Given the description of an element on the screen output the (x, y) to click on. 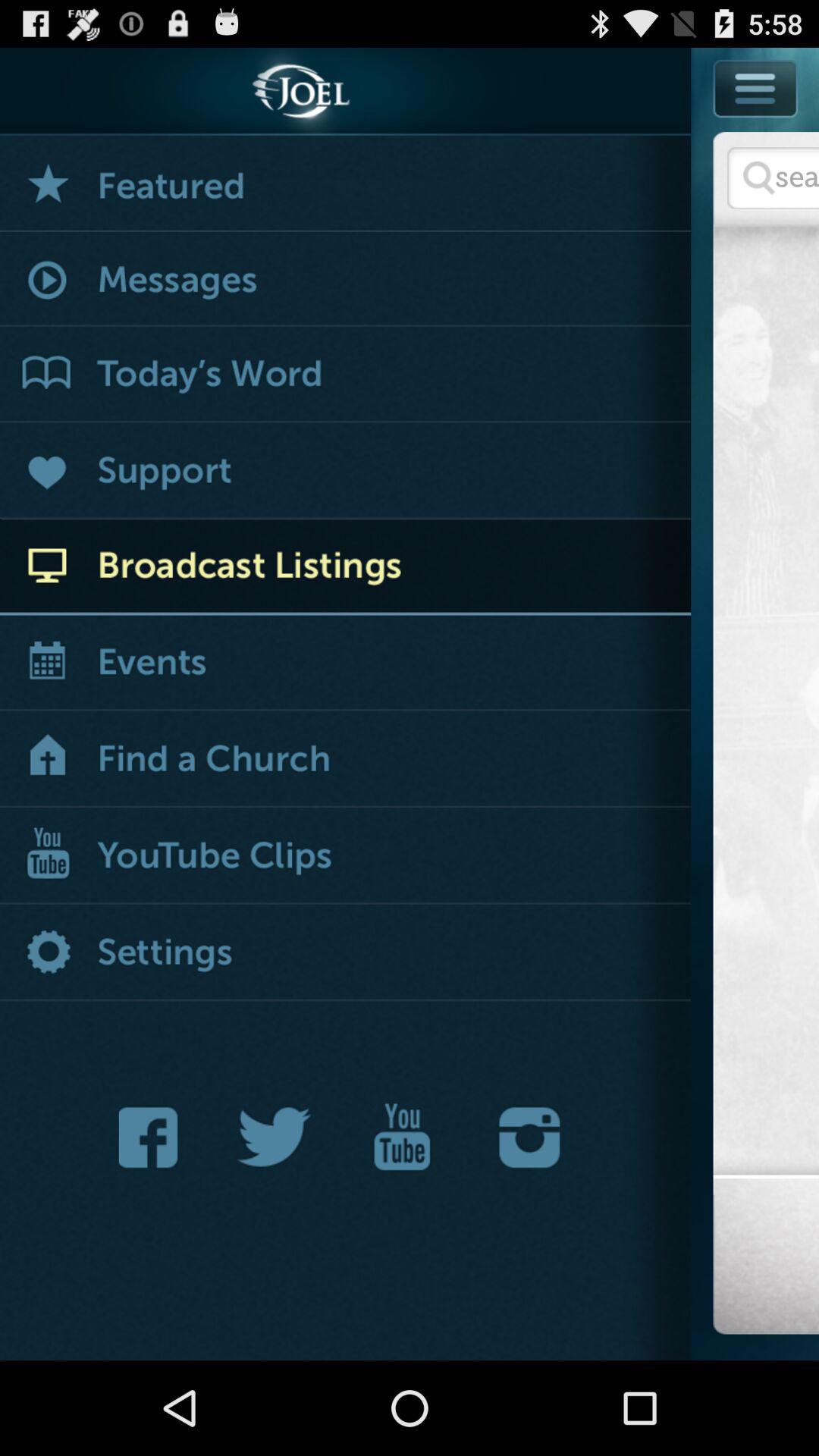
share to instagram (529, 1137)
